Given the description of an element on the screen output the (x, y) to click on. 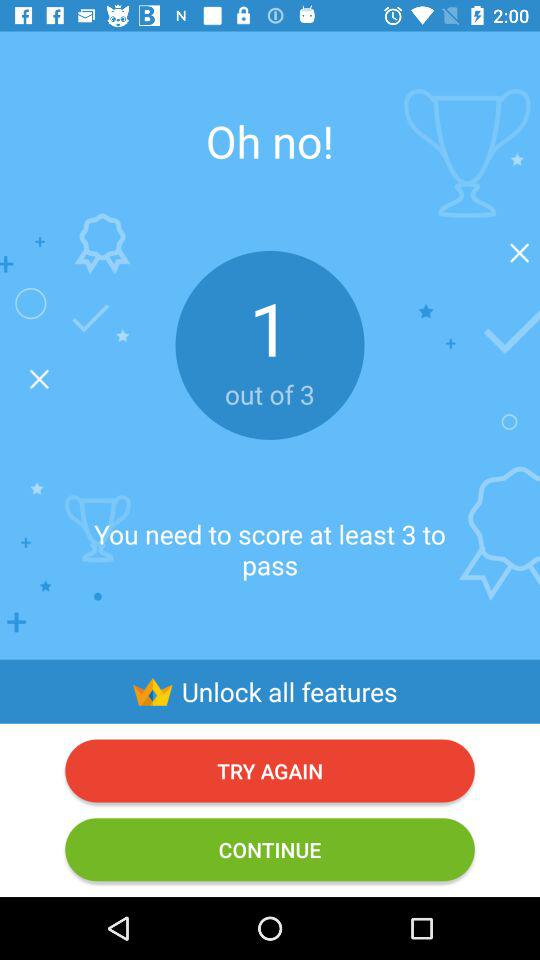
launch the icon below the try again item (269, 849)
